Given the description of an element on the screen output the (x, y) to click on. 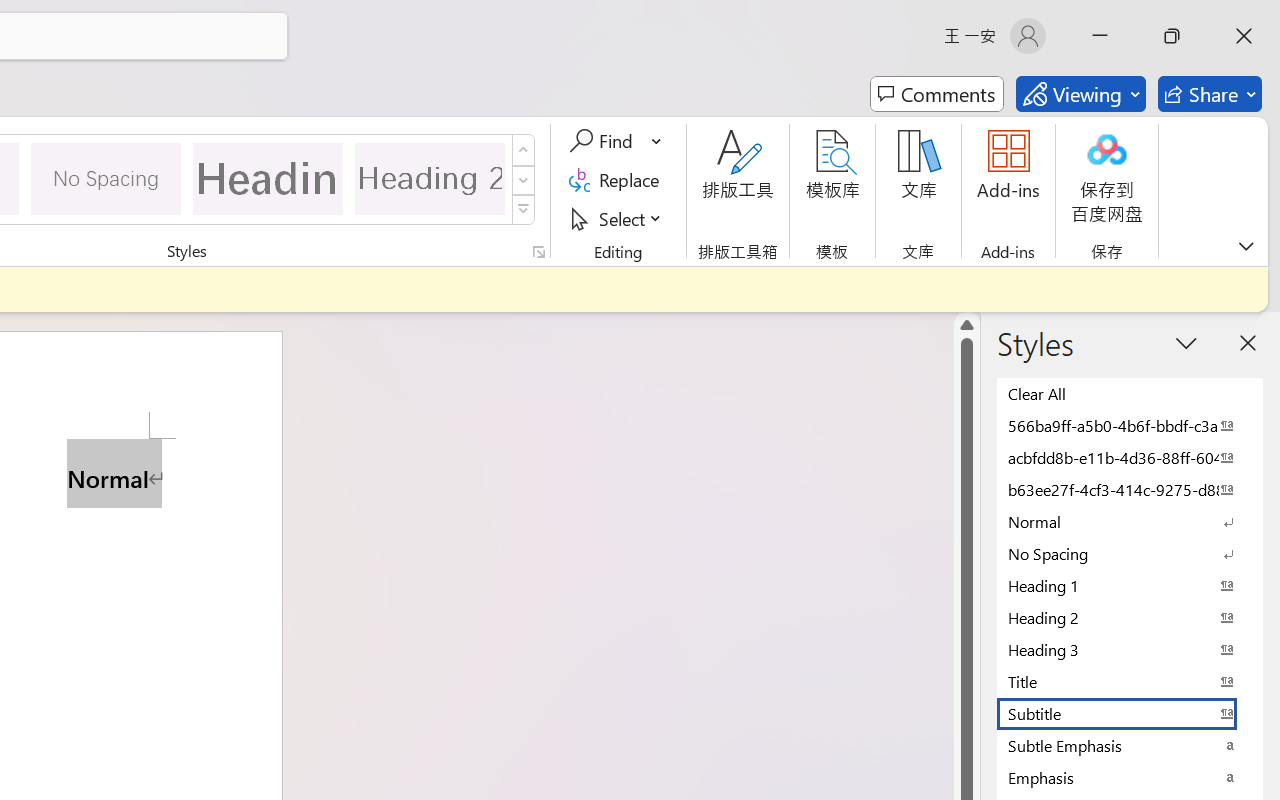
Select (618, 218)
Mode (1080, 94)
Title (1130, 681)
No Spacing (1130, 553)
Heading 1 (267, 178)
Line up (966, 324)
Subtle Emphasis (1130, 745)
Styles (523, 209)
Emphasis (1130, 777)
